Given the description of an element on the screen output the (x, y) to click on. 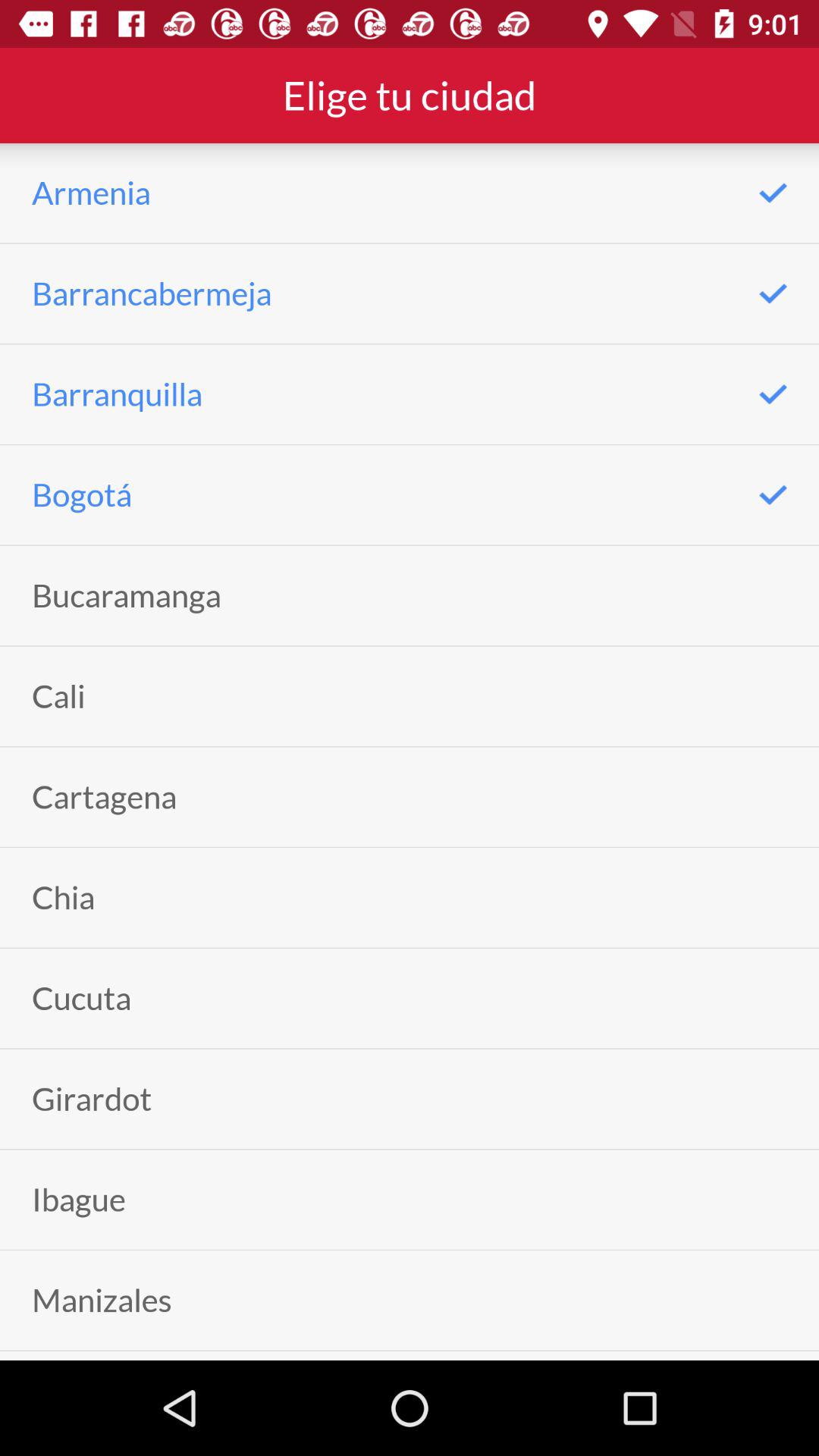
click app above the girardot app (81, 998)
